Given the description of an element on the screen output the (x, y) to click on. 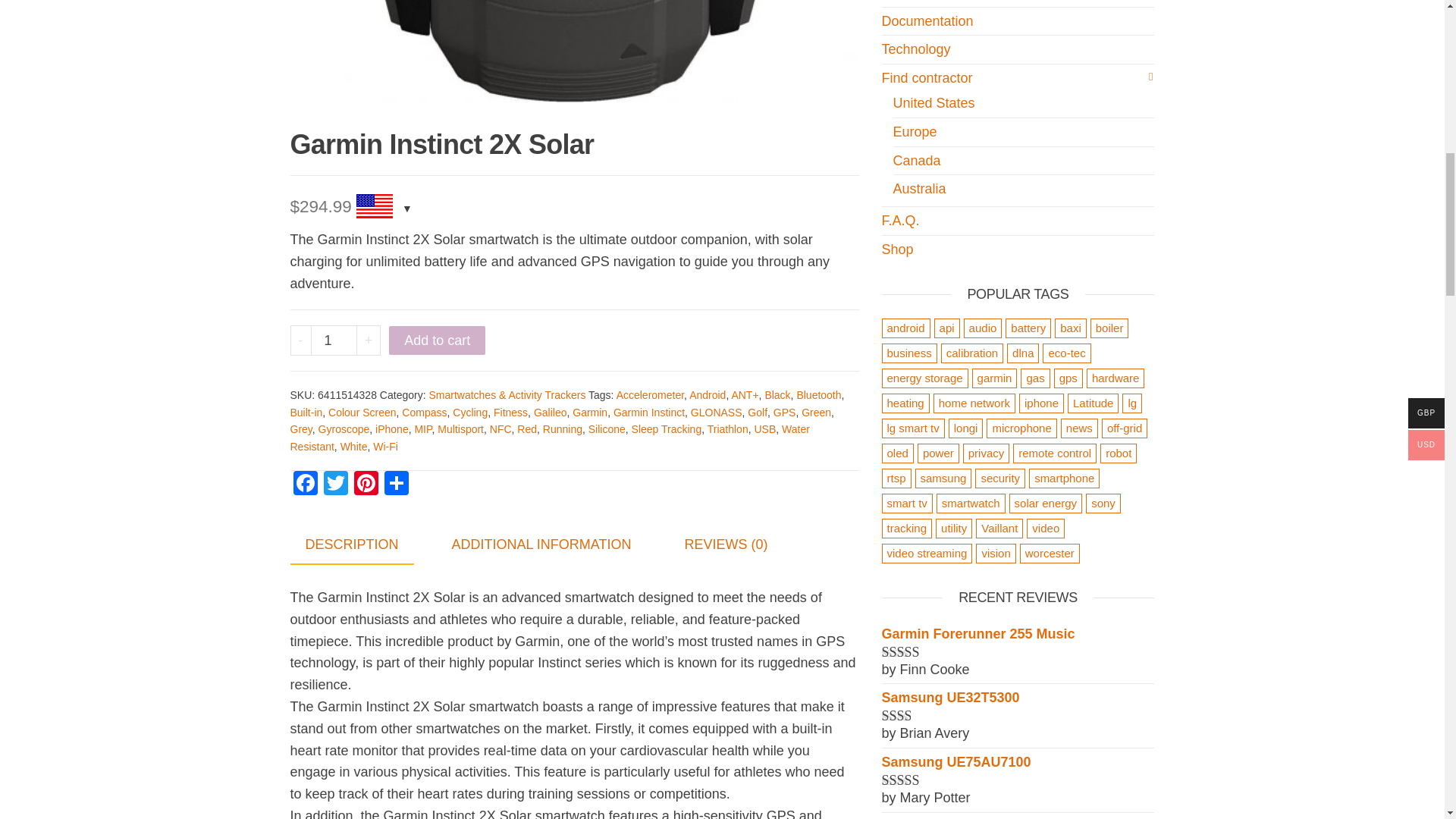
Black (777, 395)
1 (333, 340)
Garmin Instinct (648, 412)
Colour Screen (362, 412)
Accelerometer (649, 395)
Built-in (305, 412)
Facebook (304, 484)
Twitter (335, 484)
GPS (784, 412)
Bluetooth (818, 395)
